Given the description of an element on the screen output the (x, y) to click on. 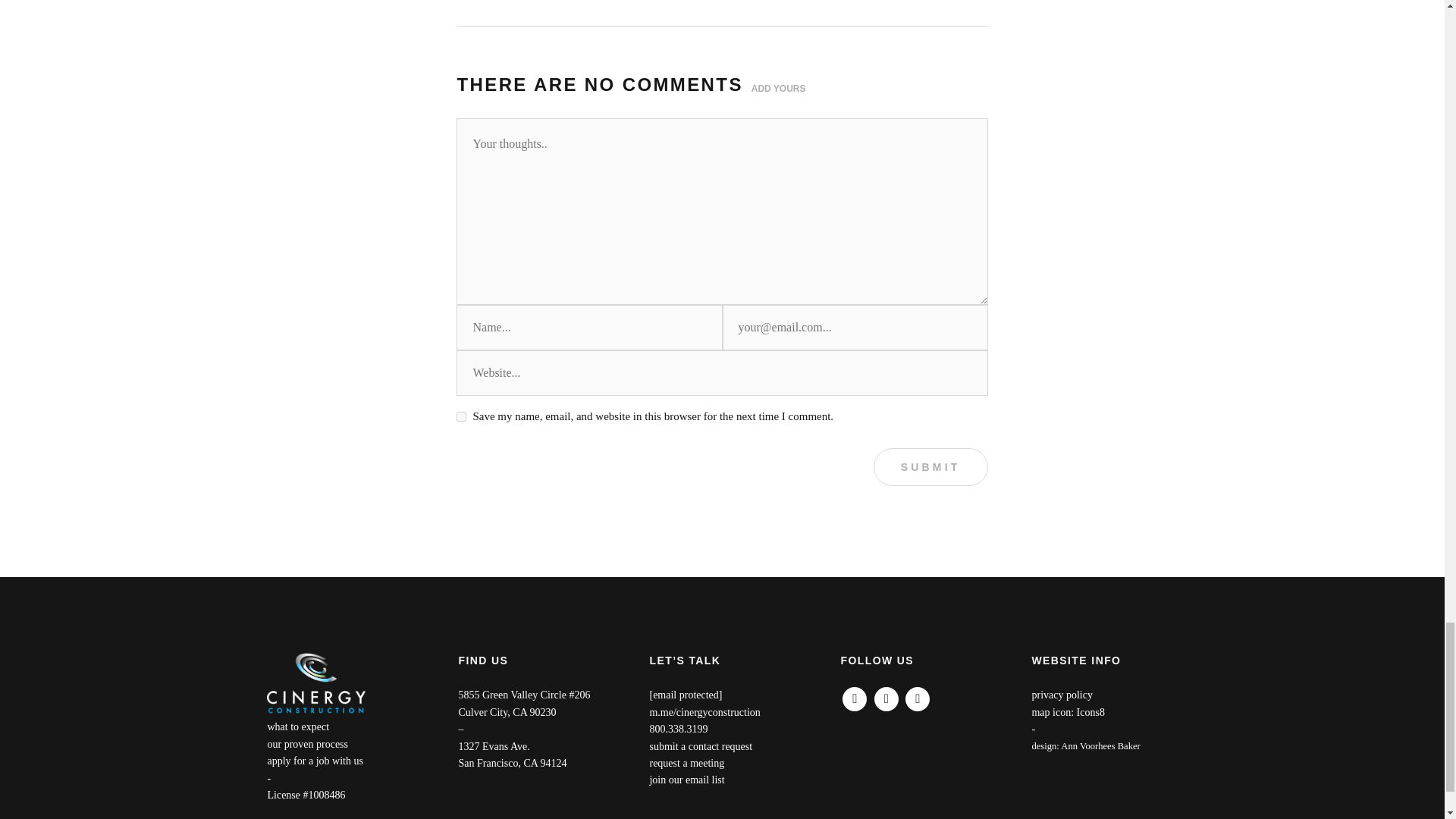
yes (461, 416)
Submit (930, 466)
